Given the description of an element on the screen output the (x, y) to click on. 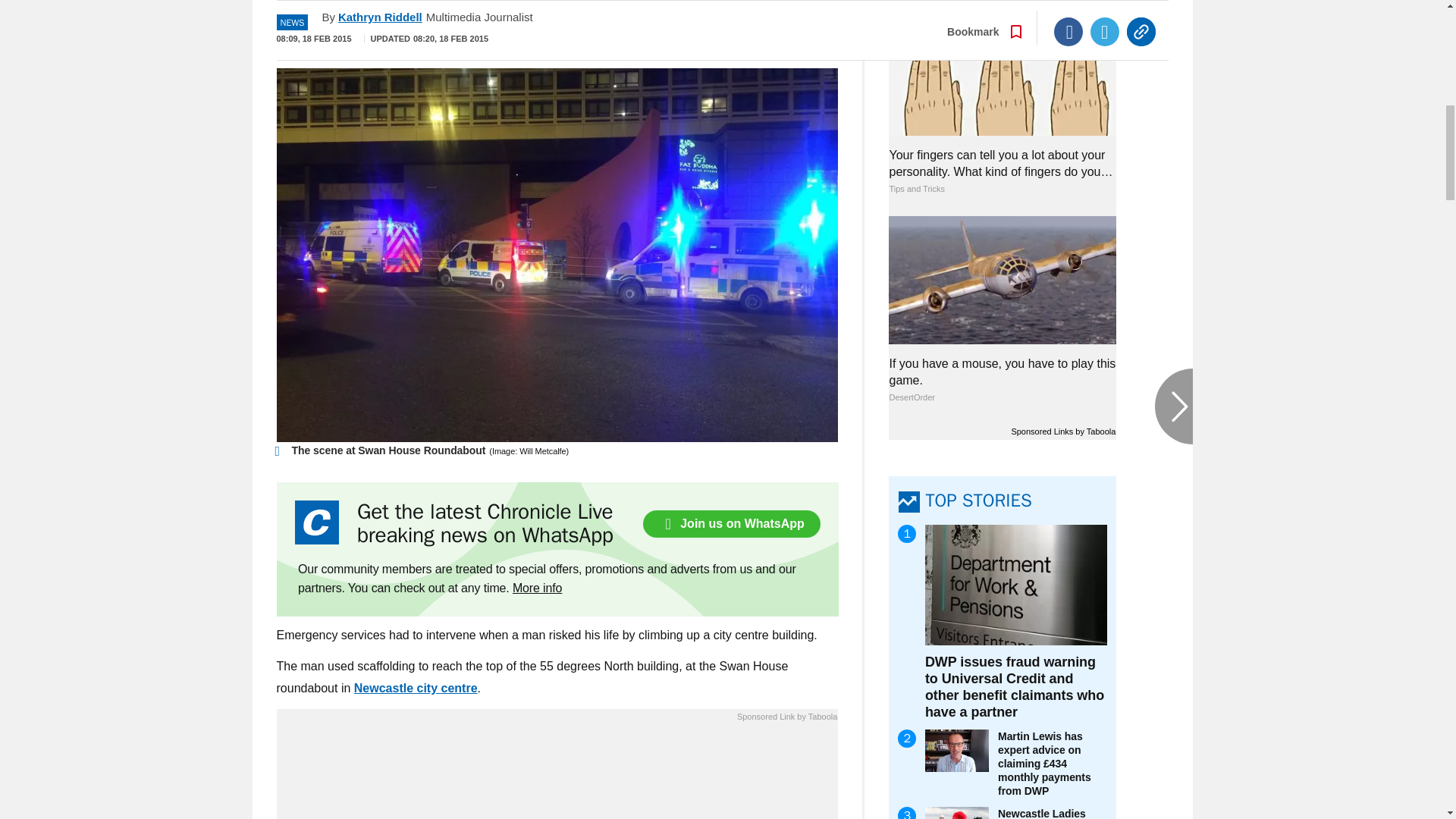
Go (730, 34)
